Given the description of an element on the screen output the (x, y) to click on. 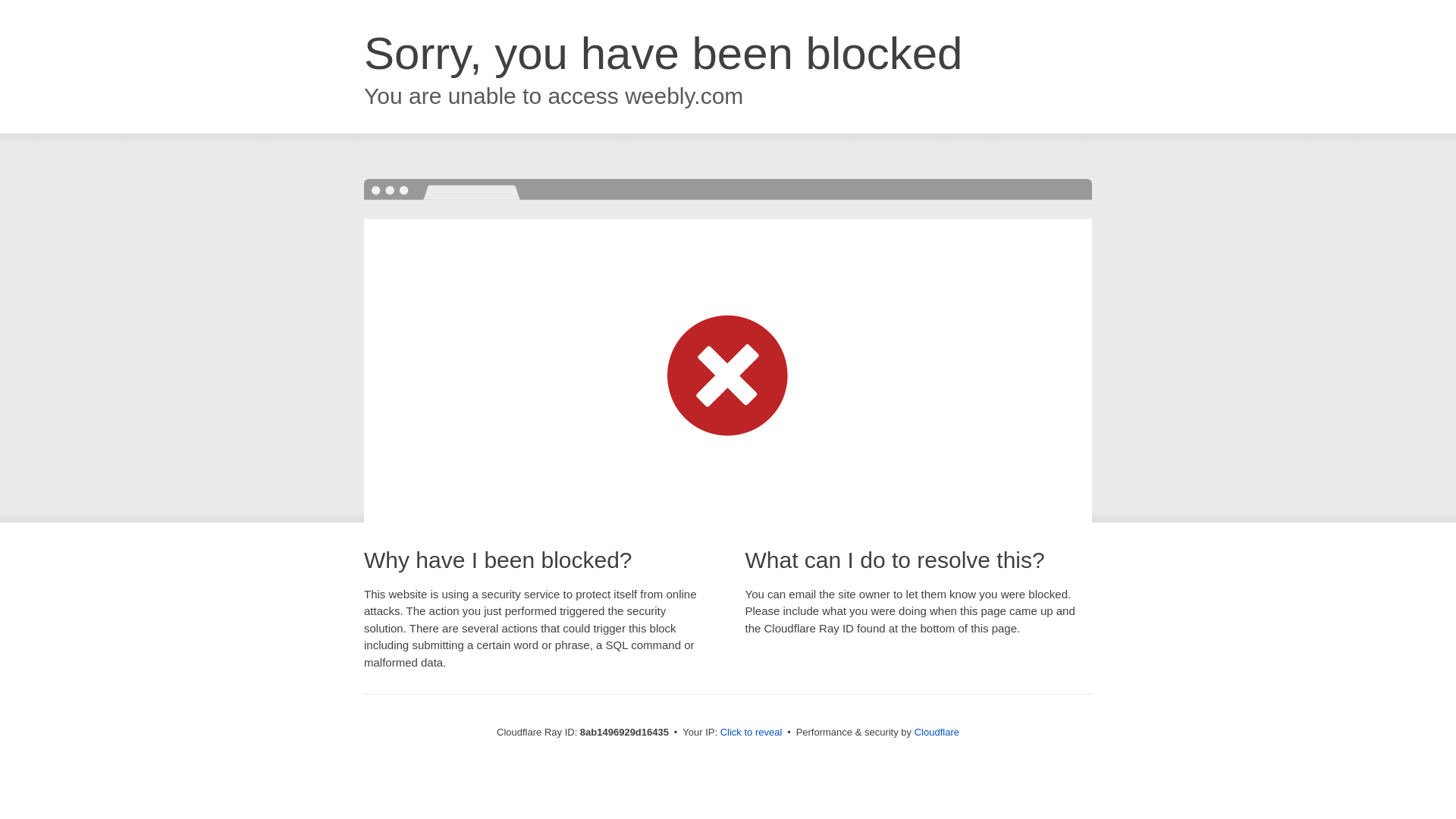
Click to reveal (751, 732)
Cloudflare (936, 731)
